Given the description of an element on the screen output the (x, y) to click on. 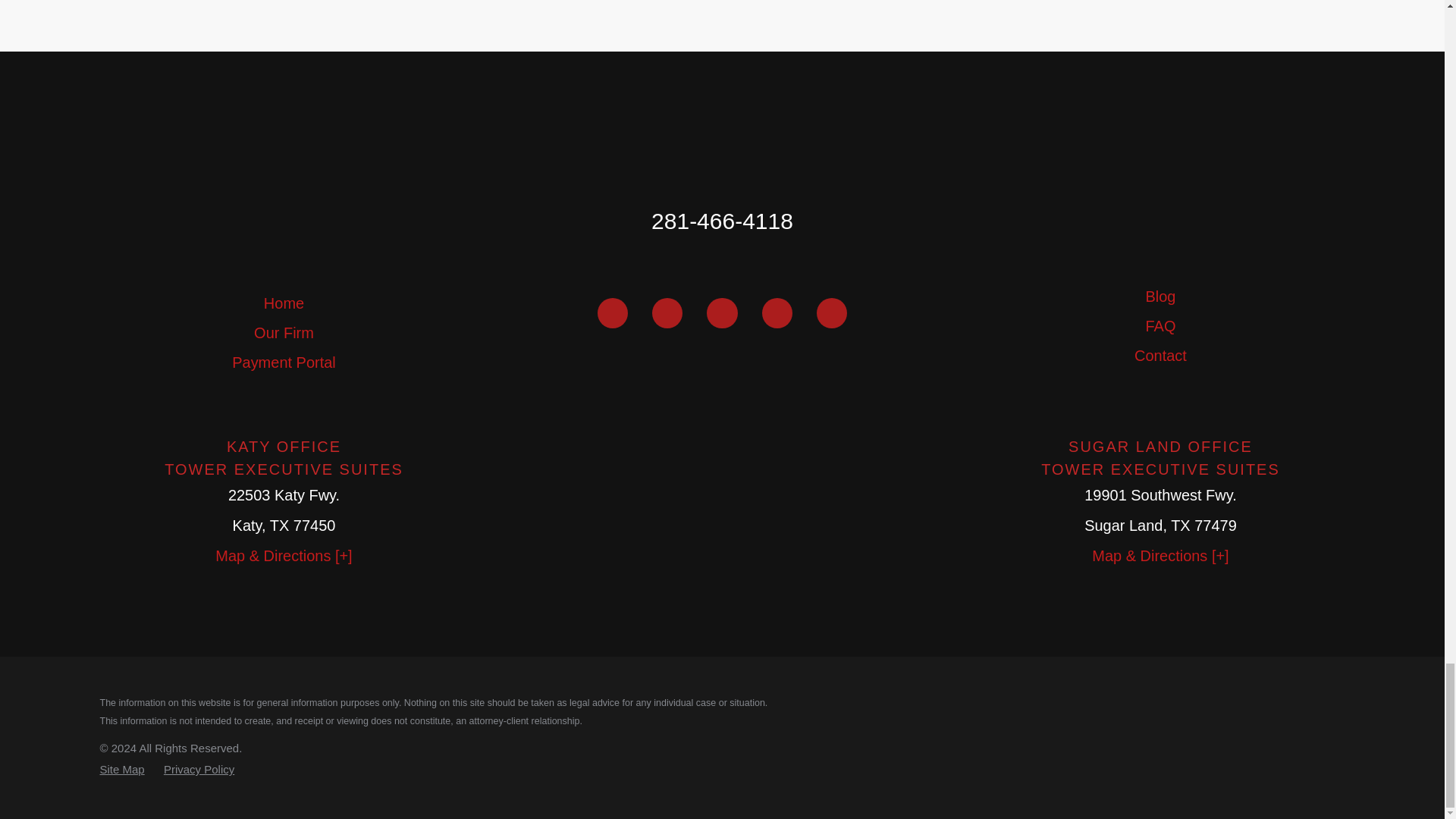
Facebook (611, 313)
YouTube (721, 313)
Yelp (831, 313)
Avvo (776, 313)
LinkedIn (667, 313)
